Given the description of an element on the screen output the (x, y) to click on. 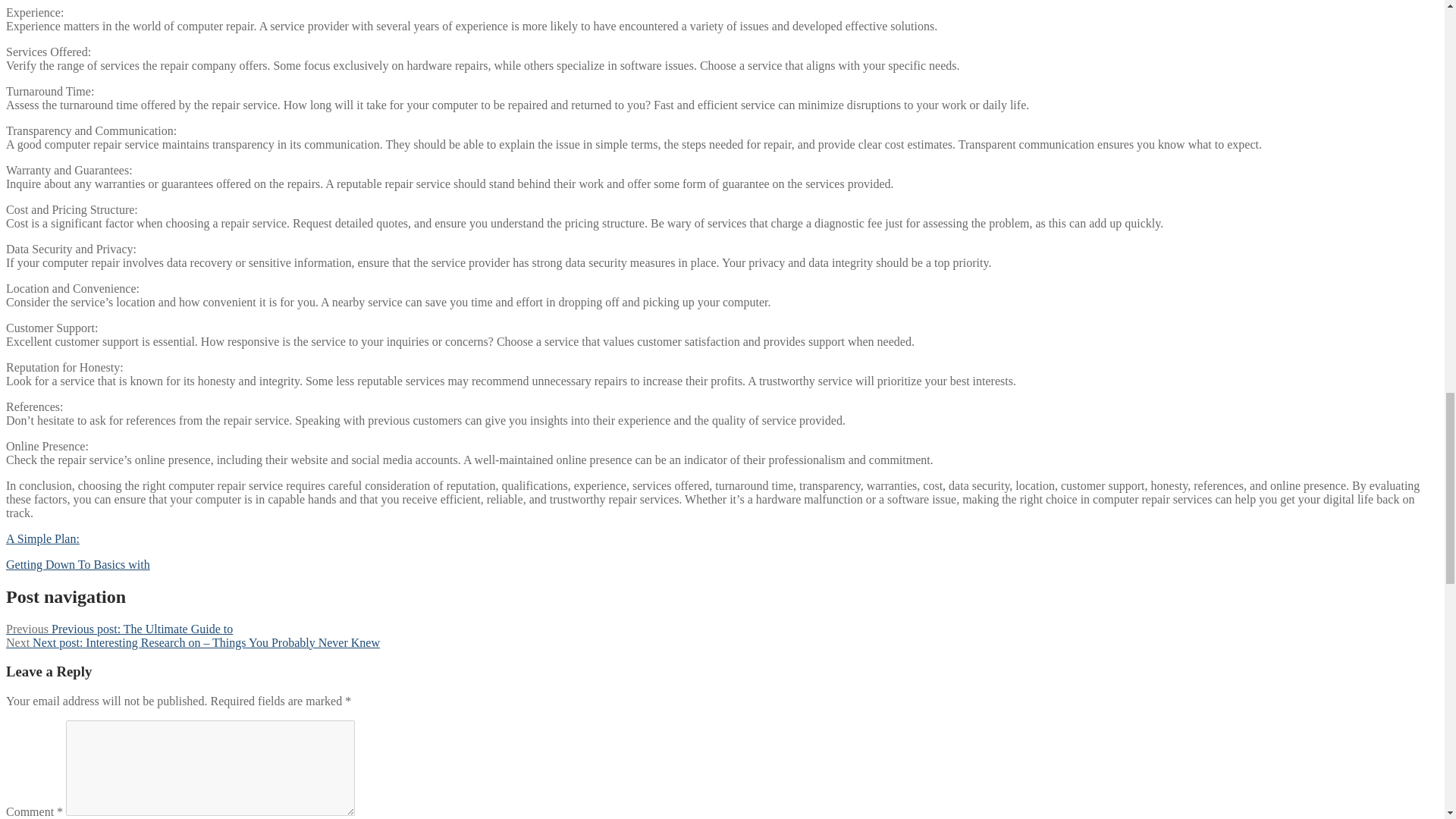
Previous Previous post: The Ultimate Guide to (118, 628)
Getting Down To Basics with (77, 563)
A Simple Plan: (42, 538)
